Given the description of an element on the screen output the (x, y) to click on. 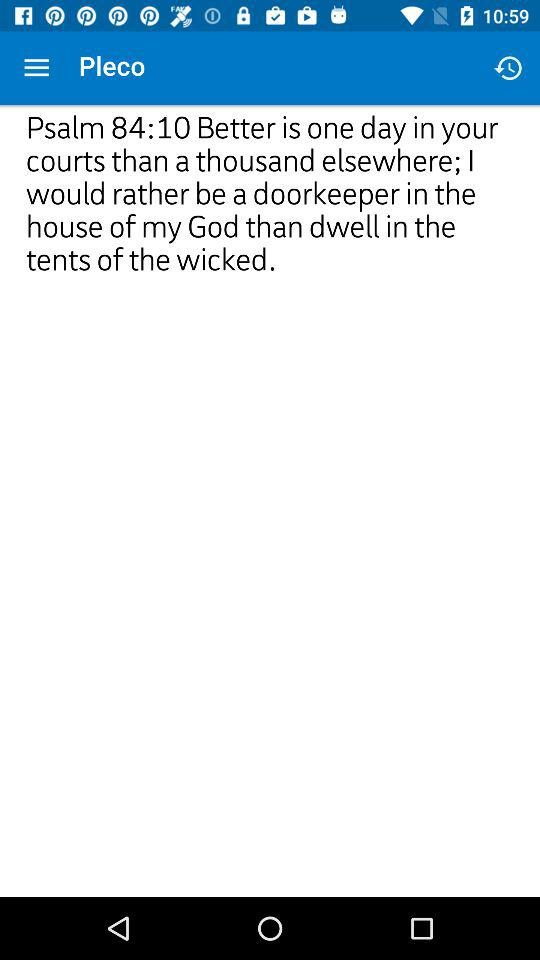
open psalm 84 10 item (270, 320)
